Given the description of an element on the screen output the (x, y) to click on. 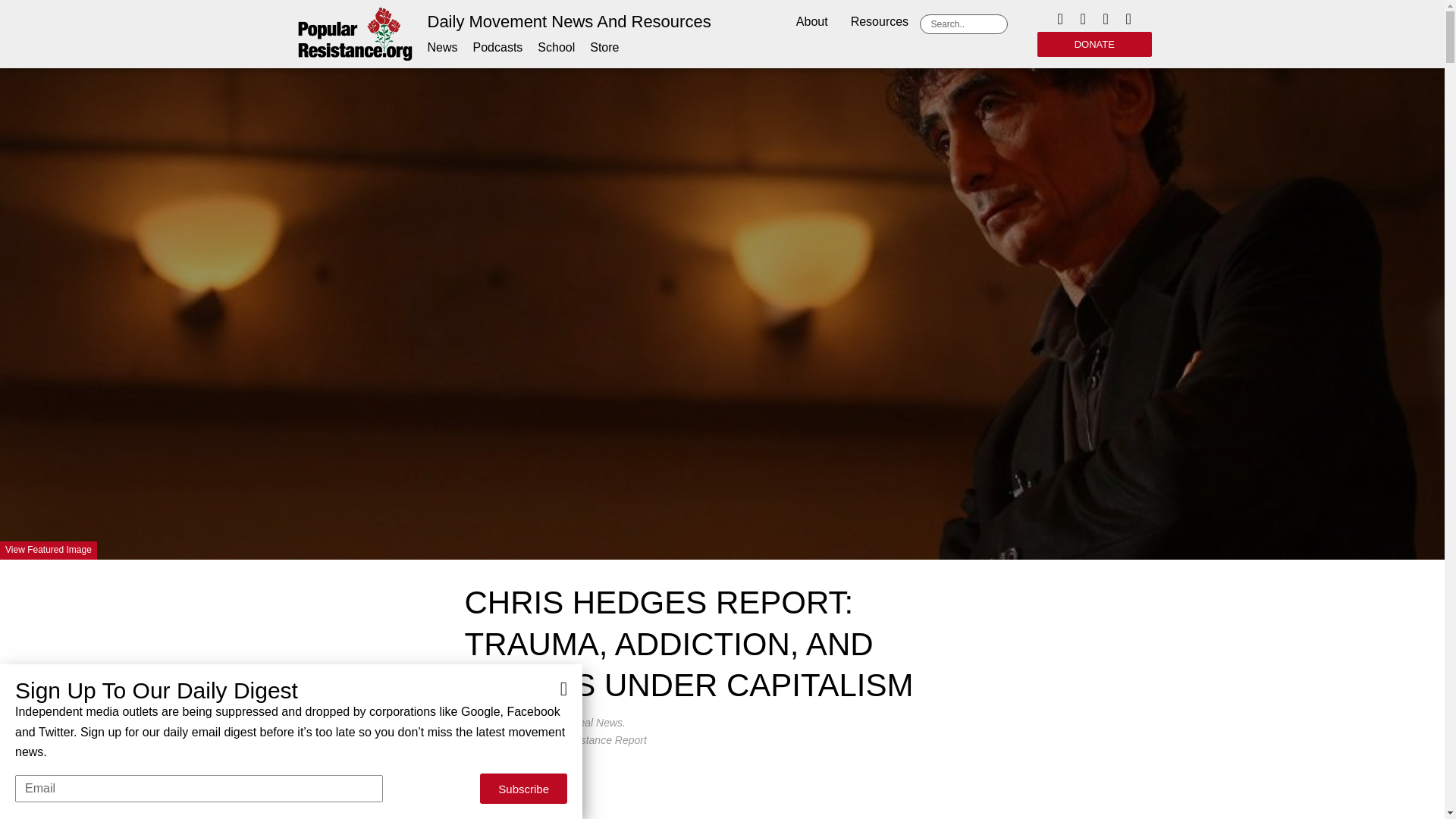
YouTube video player (721, 787)
Resources (880, 22)
News (443, 47)
About (812, 22)
Search (966, 24)
School (556, 47)
Podcasts (497, 47)
Store (603, 47)
